Given the description of an element on the screen output the (x, y) to click on. 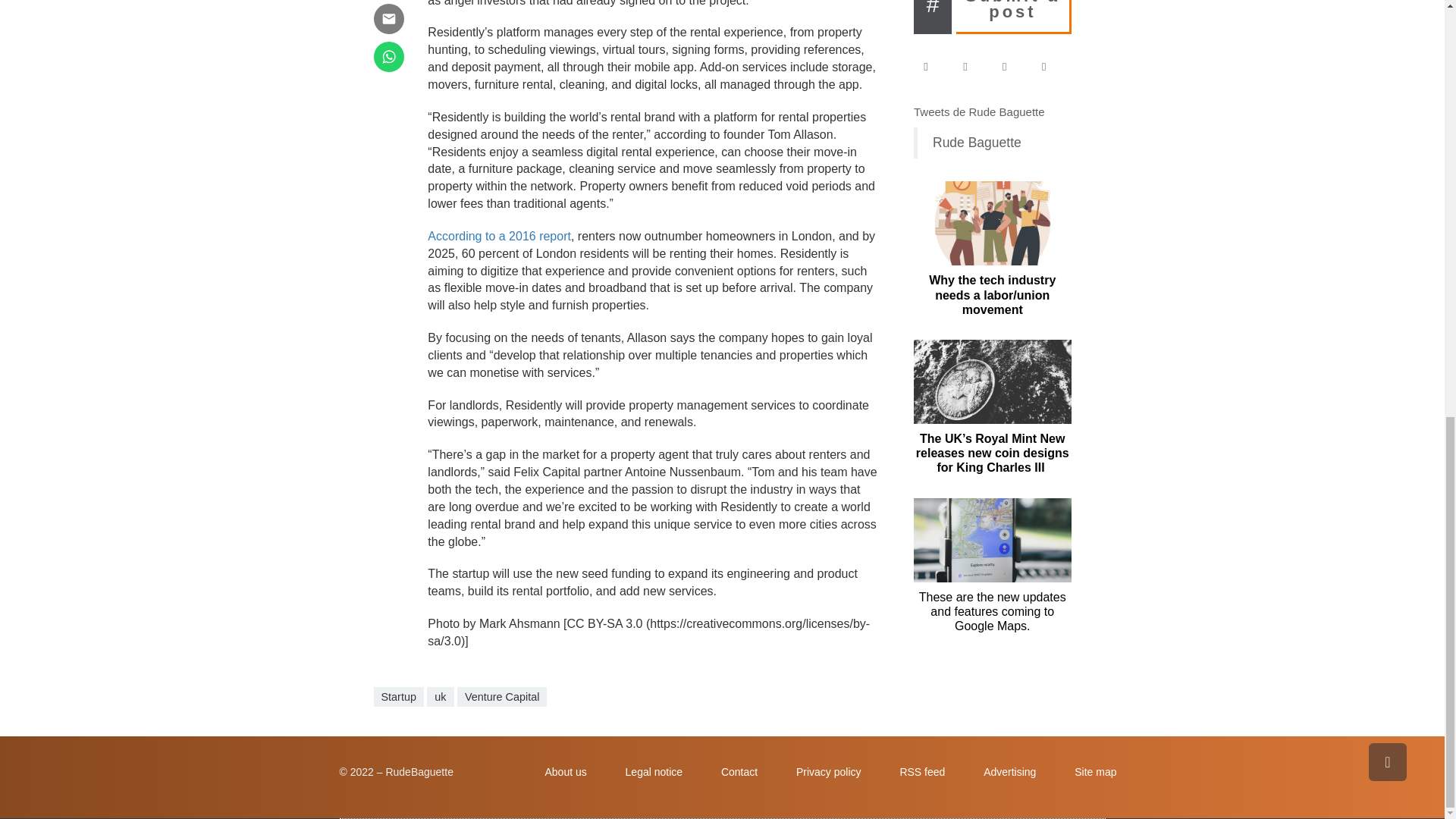
RSS (1050, 66)
Facebook (932, 66)
uk (439, 696)
According to a 2016 report (499, 236)
Twitter (972, 66)
Venture Capital (502, 696)
Rude Baguette (977, 142)
LinkedIn (1011, 66)
Startup (397, 696)
Tweets de Rude Baguette (979, 111)
